Given the description of an element on the screen output the (x, y) to click on. 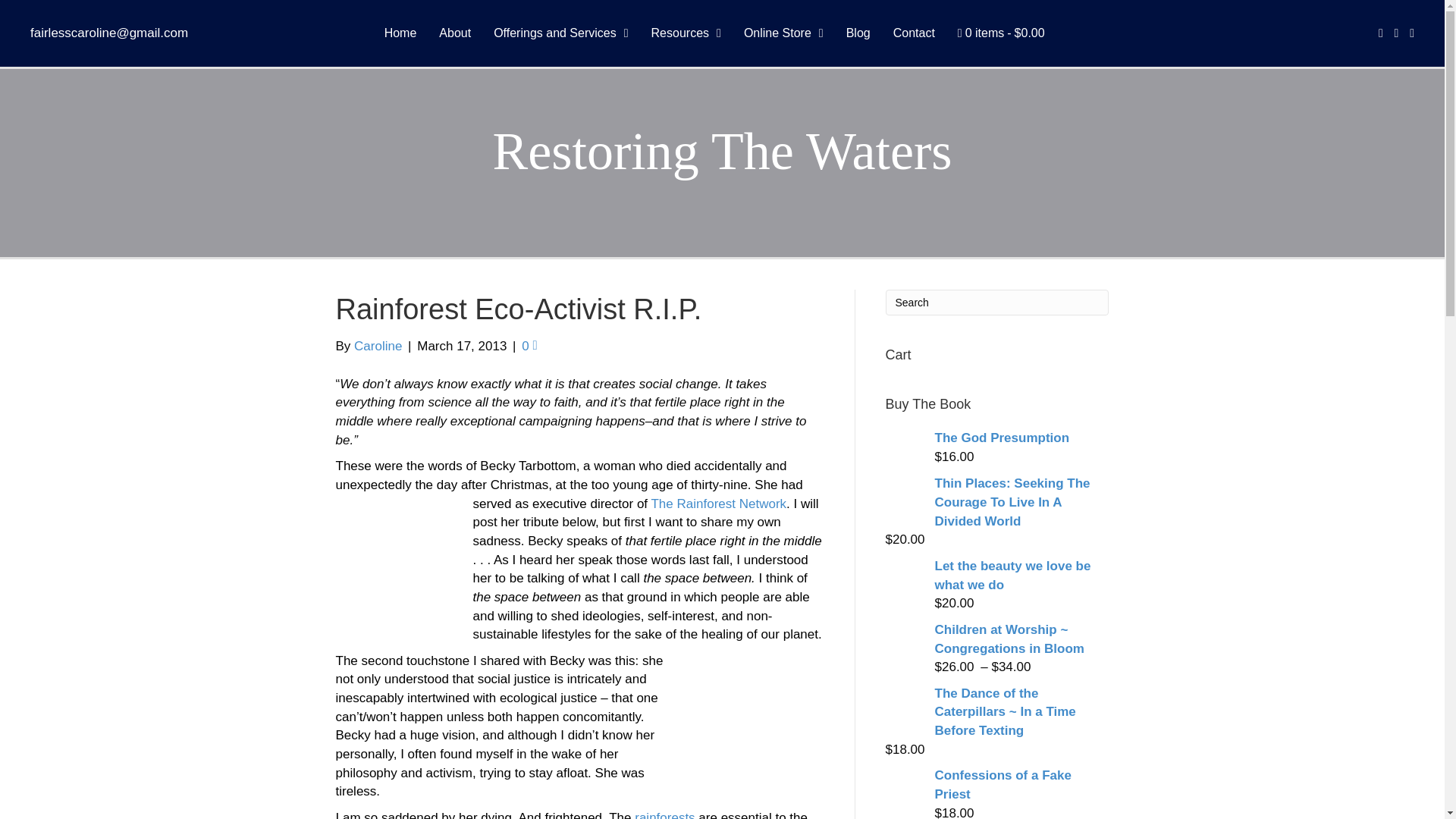
Restoring The Waters (722, 151)
rainforest (757, 714)
Resources (686, 32)
Contact (913, 32)
waterfall (395, 559)
Blog (857, 32)
About (454, 32)
Online Store (783, 32)
Home (401, 32)
Caroline (377, 345)
Offerings and Services (560, 32)
Search (997, 302)
The Rainforest Network (718, 503)
Type and press Enter to search. (997, 302)
Search (997, 302)
